Given the description of an element on the screen output the (x, y) to click on. 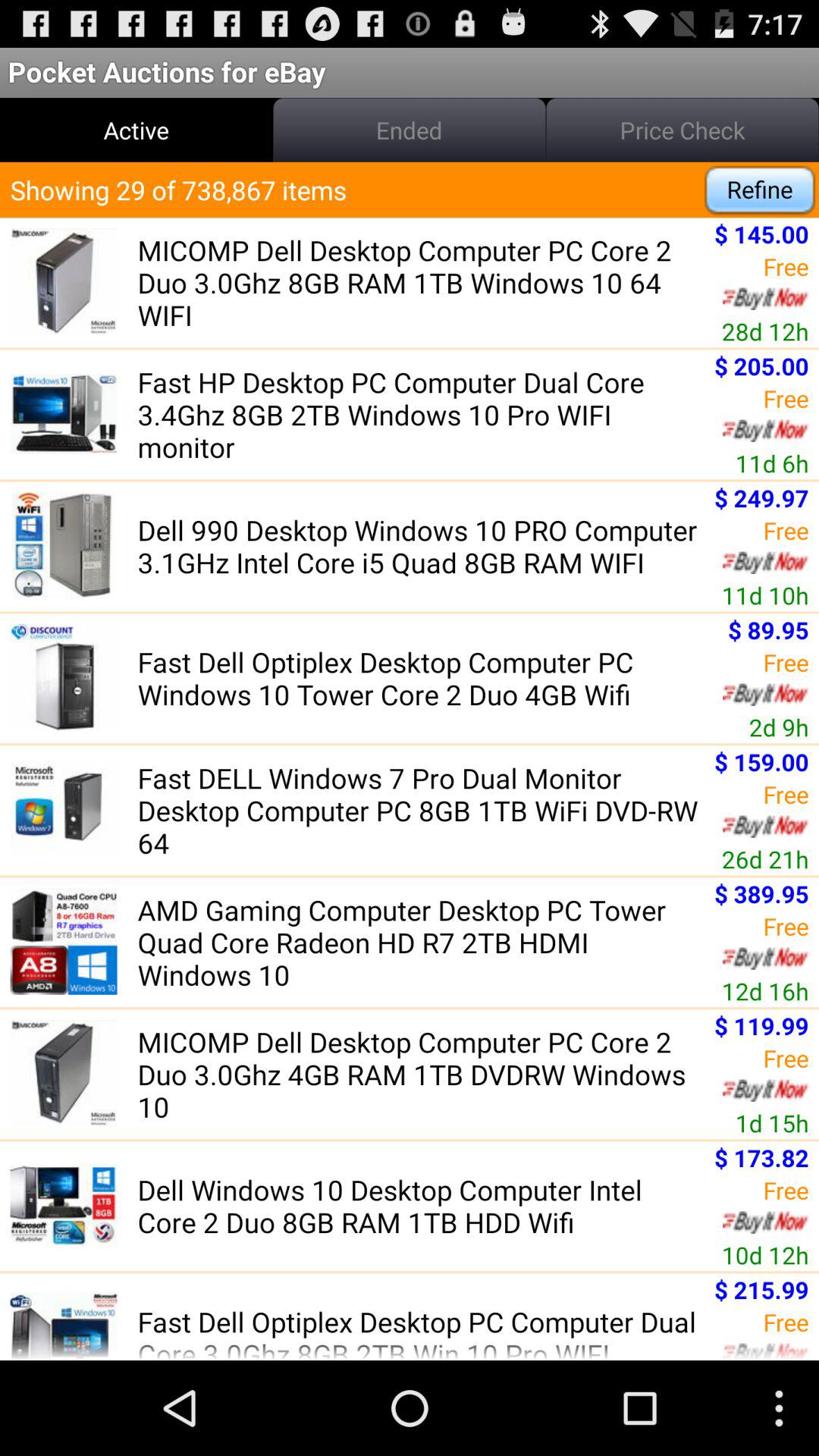
turn on amd gaming computer (420, 942)
